Given the description of an element on the screen output the (x, y) to click on. 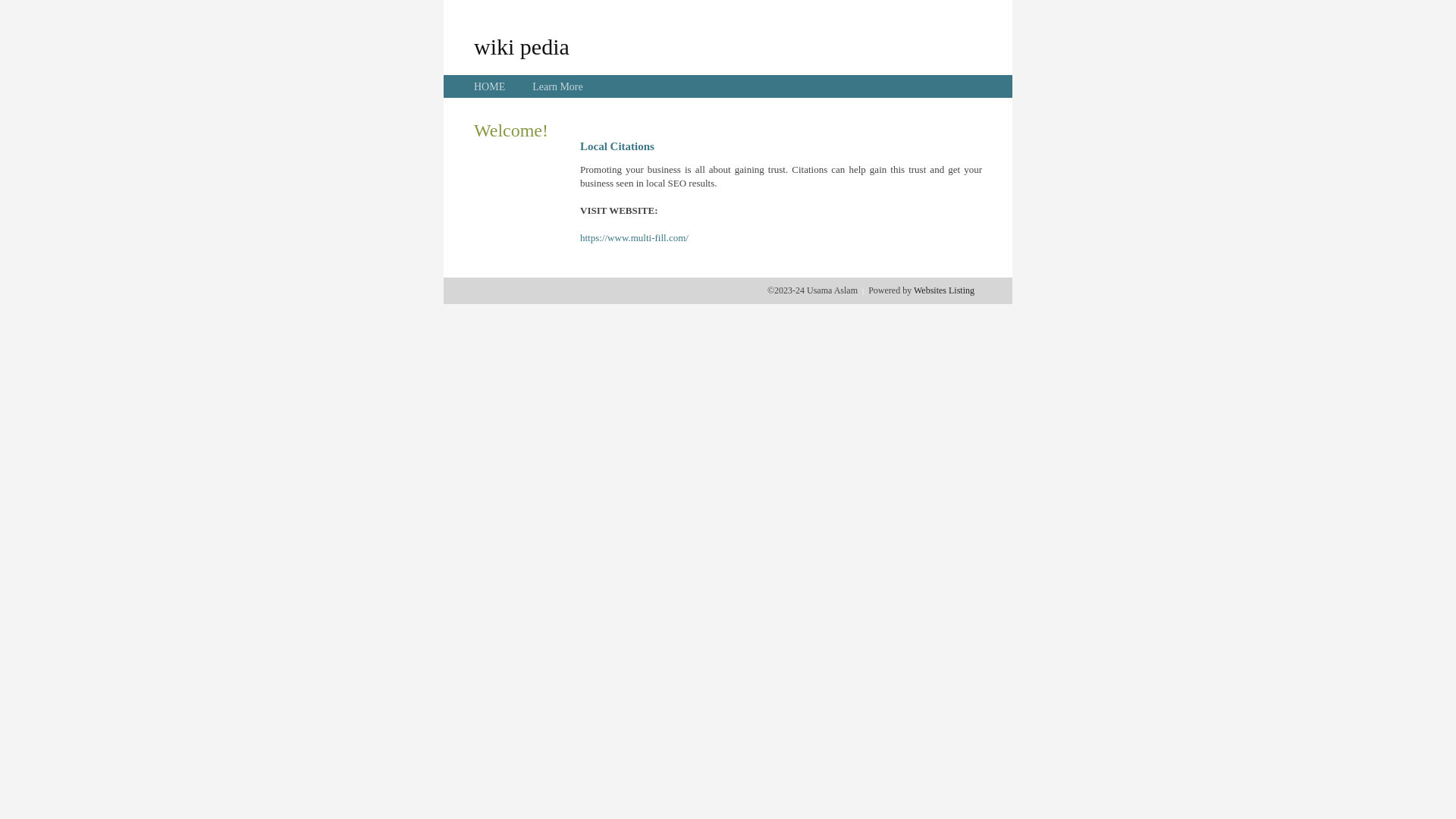
wiki pedia Element type: text (521, 46)
HOME Element type: text (489, 86)
Websites Listing Element type: text (943, 290)
Learn More Element type: text (557, 86)
https://www.multi-fill.com/ Element type: text (634, 237)
